Given the description of an element on the screen output the (x, y) to click on. 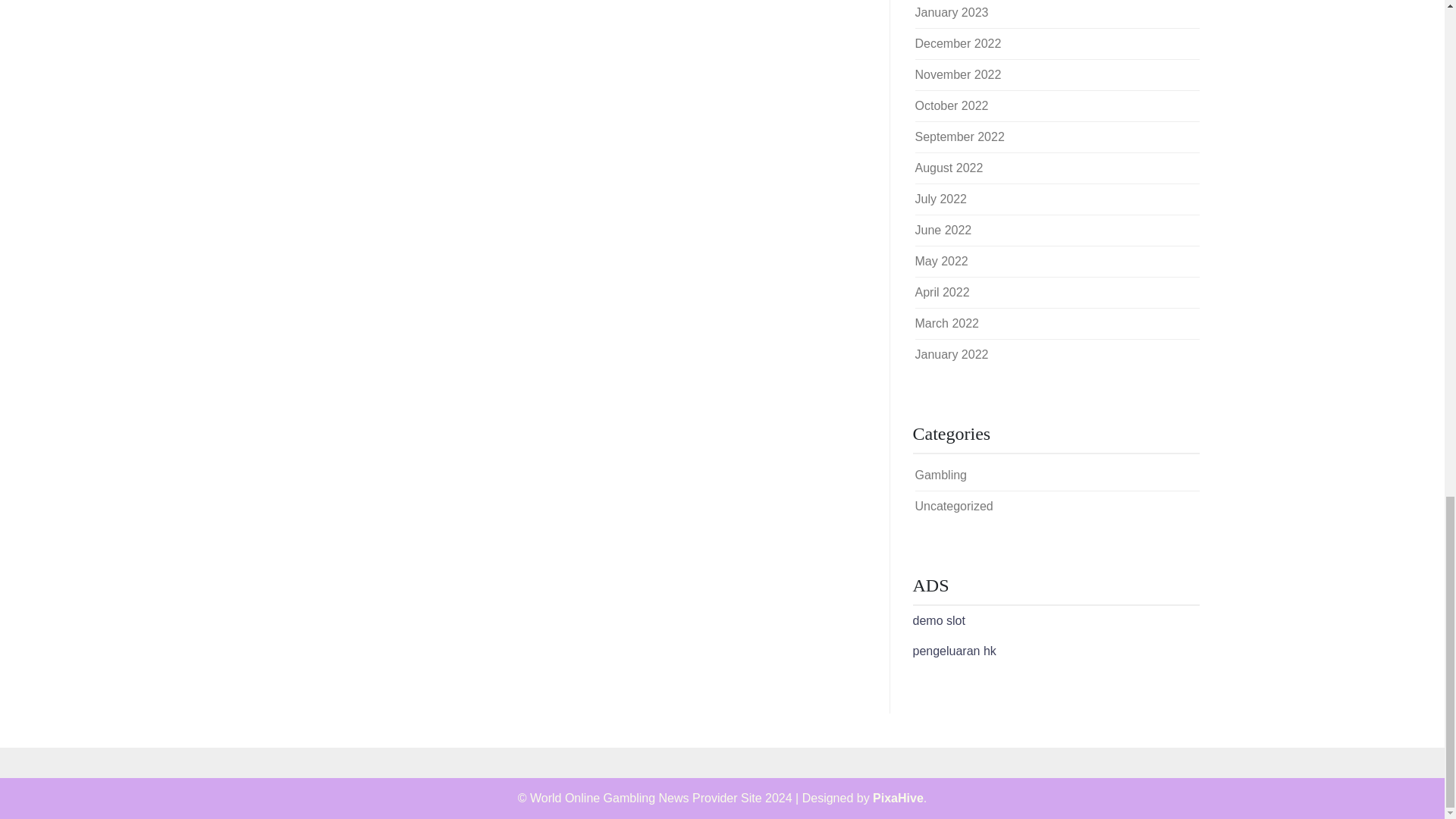
December 2022 (957, 42)
January 2023 (951, 11)
